Given the description of an element on the screen output the (x, y) to click on. 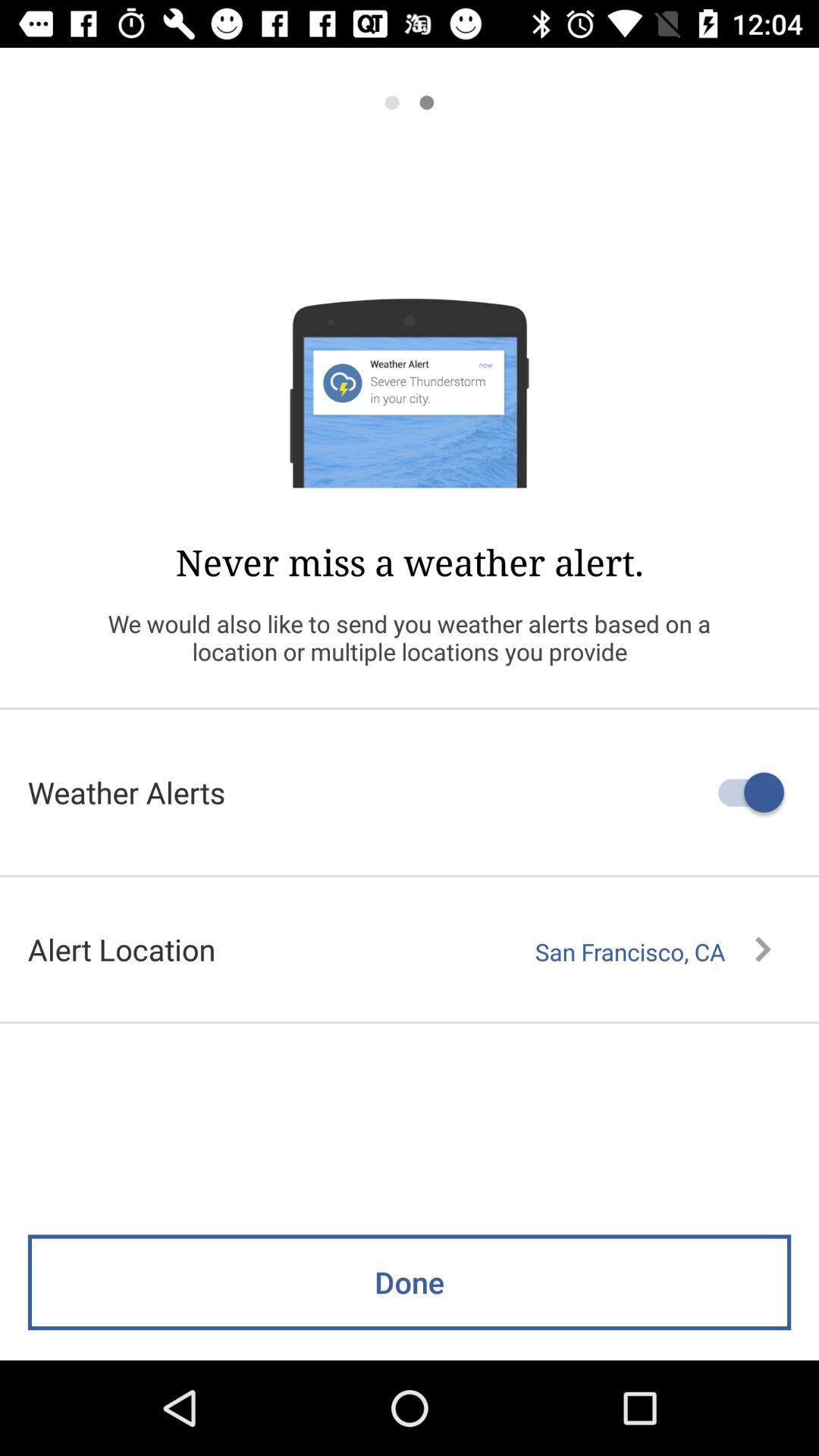
choose item next to alert location item (653, 951)
